Given the description of an element on the screen output the (x, y) to click on. 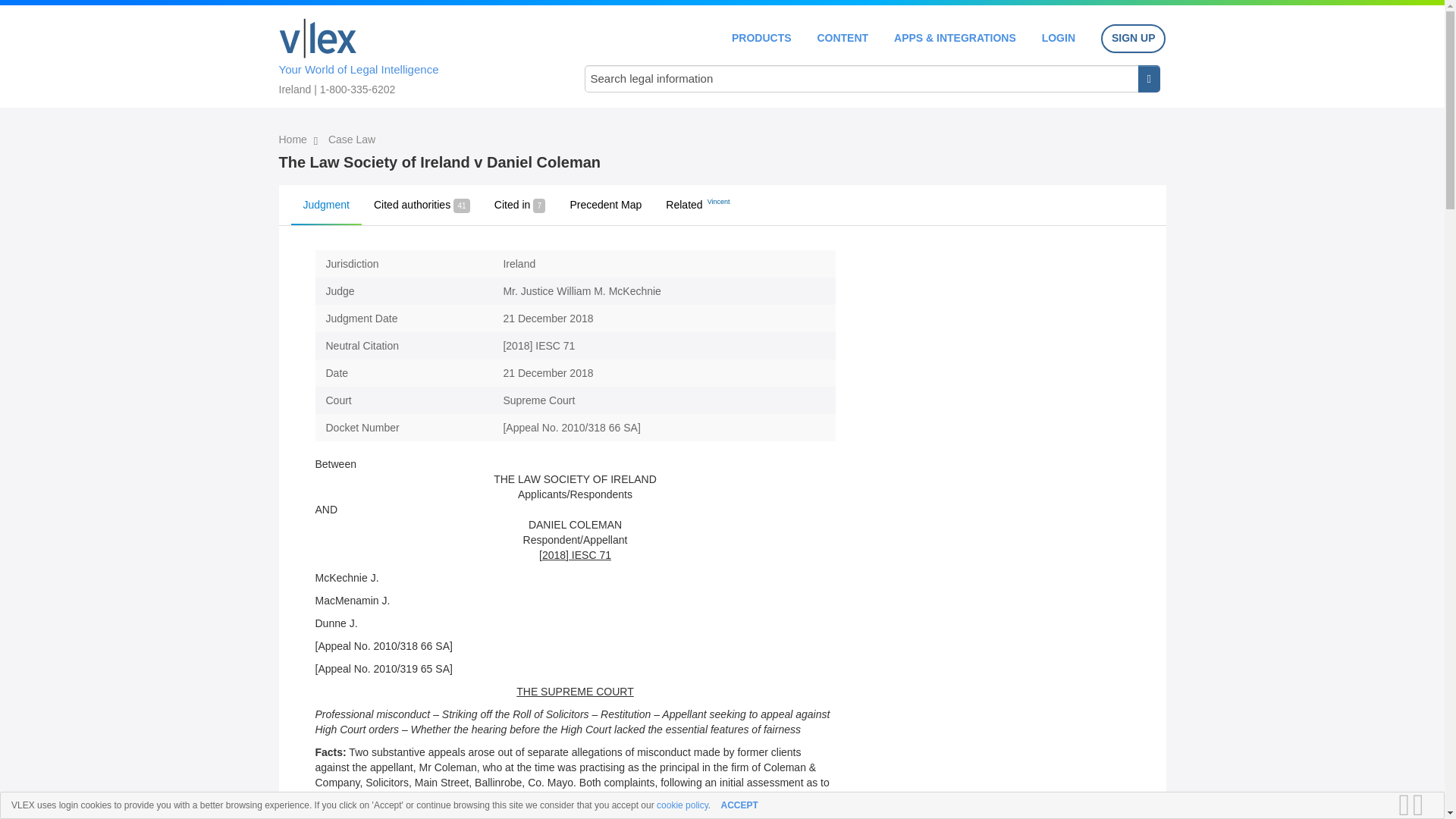
CONTENT (841, 37)
Case Law (352, 139)
Home (317, 38)
cookie policy (681, 805)
ACCEPT (739, 805)
PRODUCTS (762, 37)
Your World of Legal Intelligence (416, 53)
Home (294, 139)
LOGIN (1058, 37)
CLOSE (1422, 805)
SIGN UP (1133, 38)
